Given the description of an element on the screen output the (x, y) to click on. 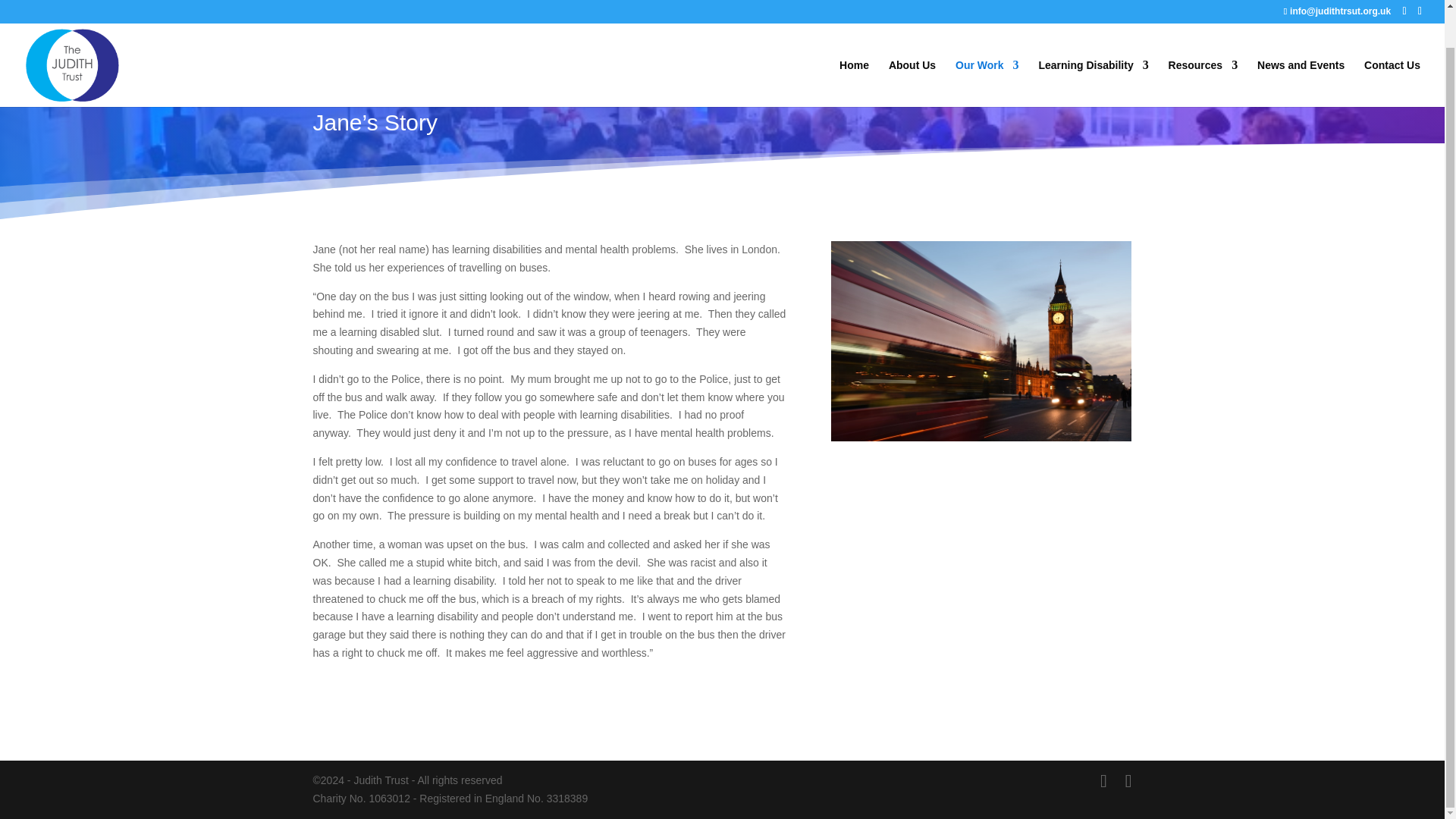
News and Events (1300, 43)
Our Work (987, 43)
Resources (1204, 43)
Contact Us (1392, 43)
Learning Disability (1093, 43)
About Us (912, 43)
